Given the description of an element on the screen output the (x, y) to click on. 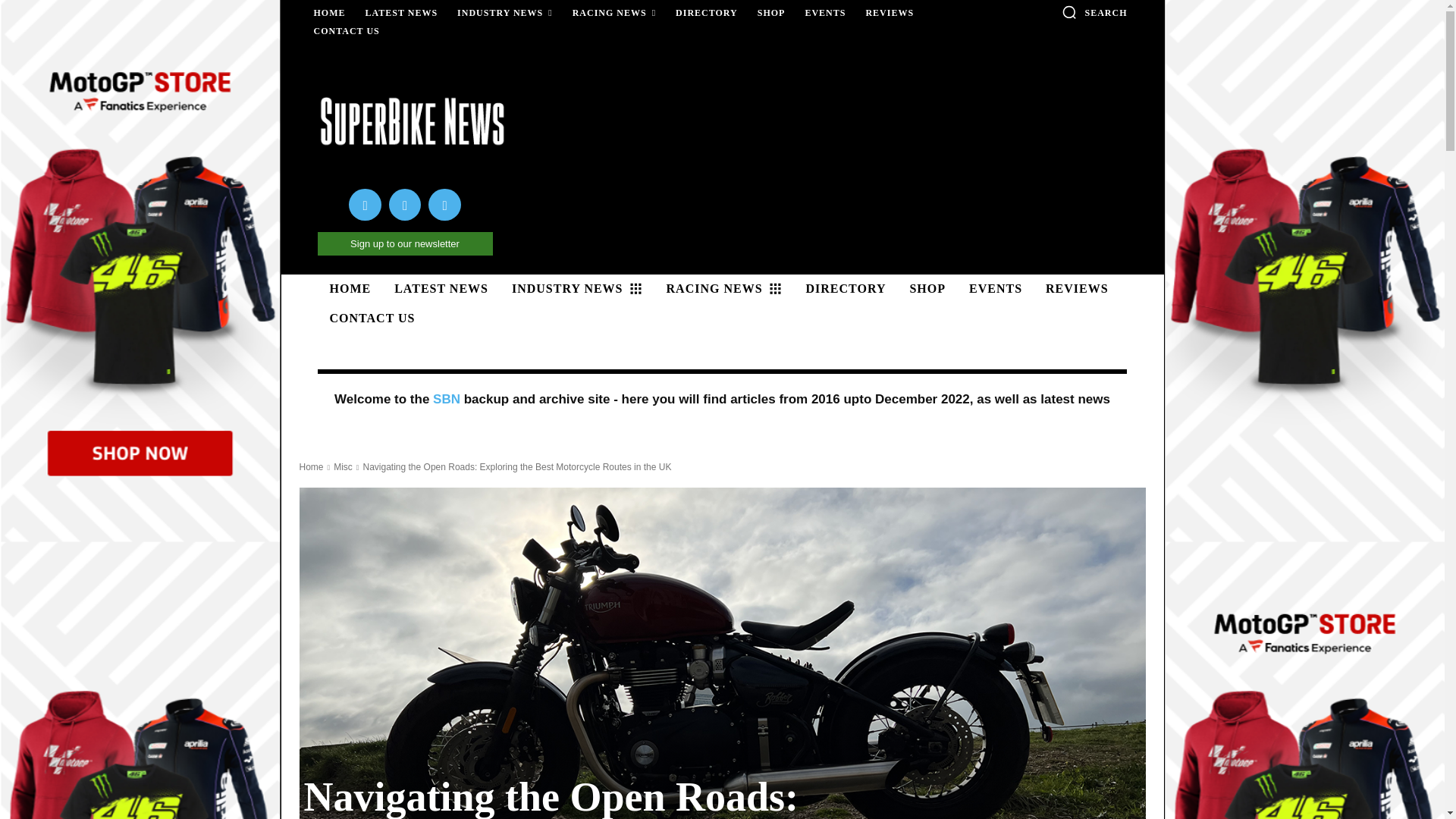
Twitter (444, 205)
Instagram (405, 205)
Sign up to our newsletter (404, 243)
Facebook (365, 205)
